Given the description of an element on the screen output the (x, y) to click on. 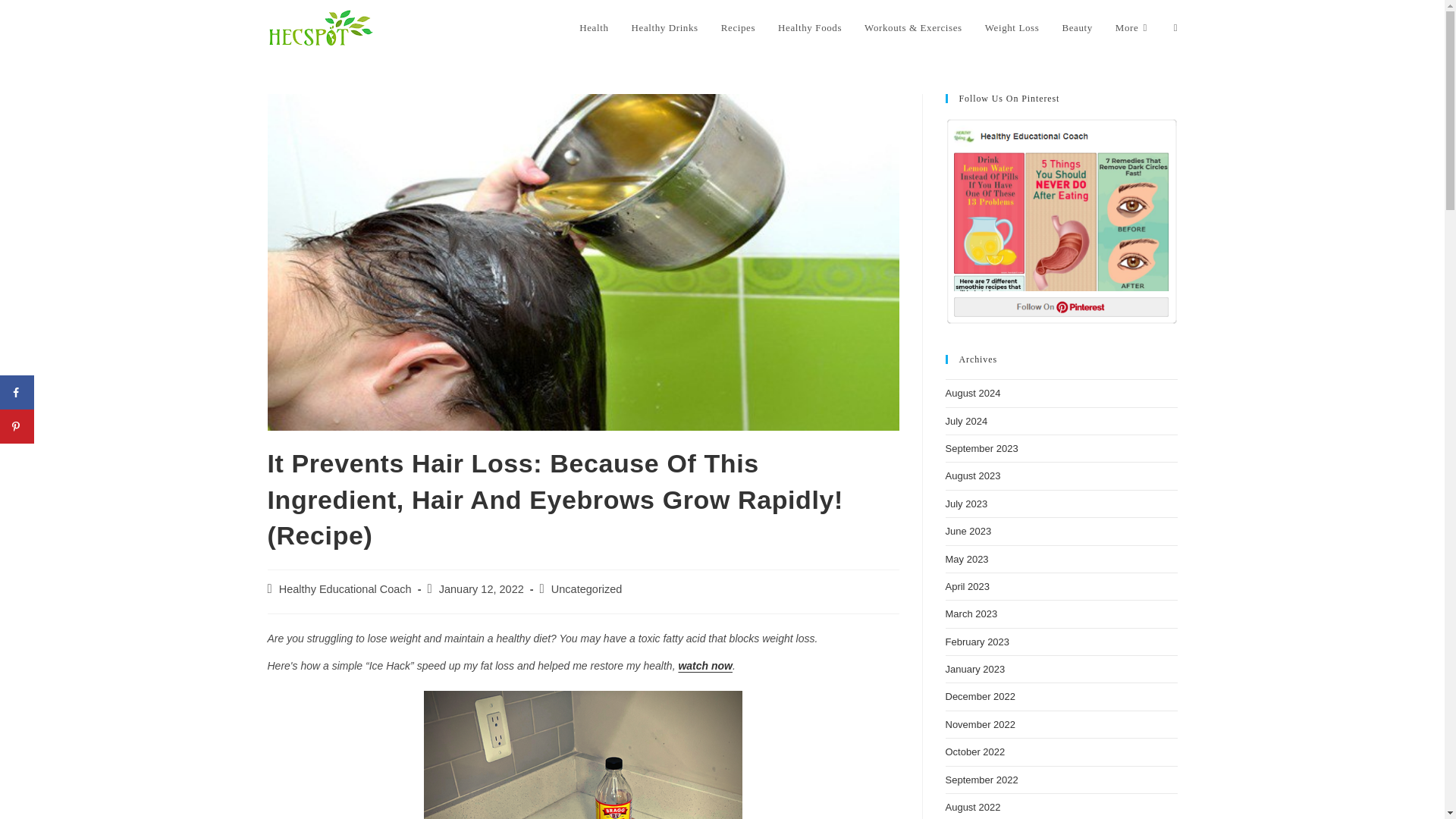
Weight Loss (1012, 28)
Health (593, 28)
watch now (705, 665)
More (1132, 28)
Share on Facebook (16, 392)
Healthy Educational Coach (345, 589)
Save to Pinterest (16, 426)
Healthy Foods (810, 28)
Beauty (1076, 28)
Posts by Healthy Educational Coach (345, 589)
